Given the description of an element on the screen output the (x, y) to click on. 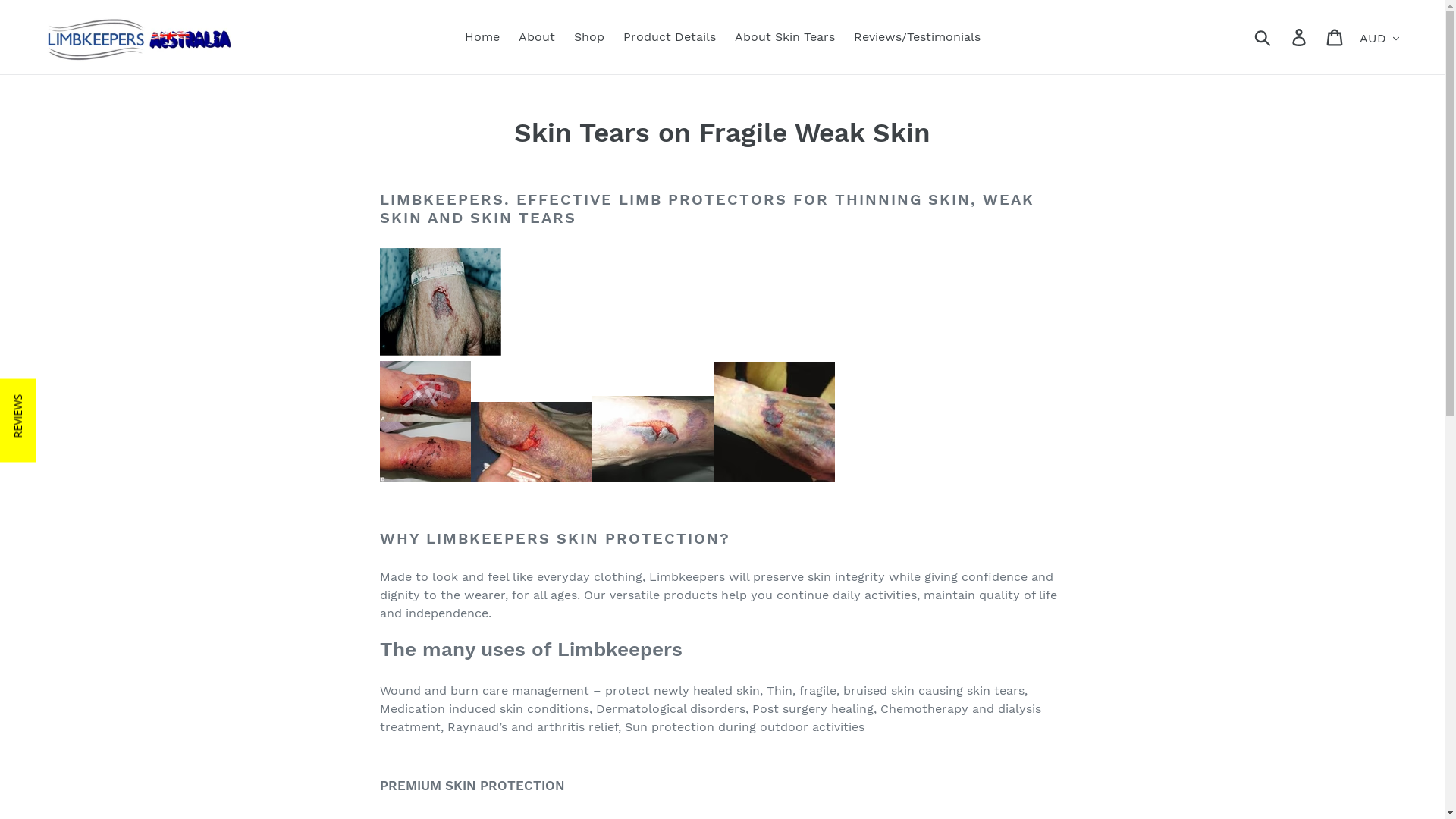
Shop Element type: text (588, 36)
Reviews/Testimonials Element type: text (917, 36)
Product Details Element type: text (669, 36)
Log in Element type: text (1299, 37)
Home Element type: text (481, 36)
Cart Element type: text (1335, 37)
Submit Element type: text (1263, 36)
About Skin Tears Element type: text (783, 36)
About Element type: text (536, 36)
